Given the description of an element on the screen output the (x, y) to click on. 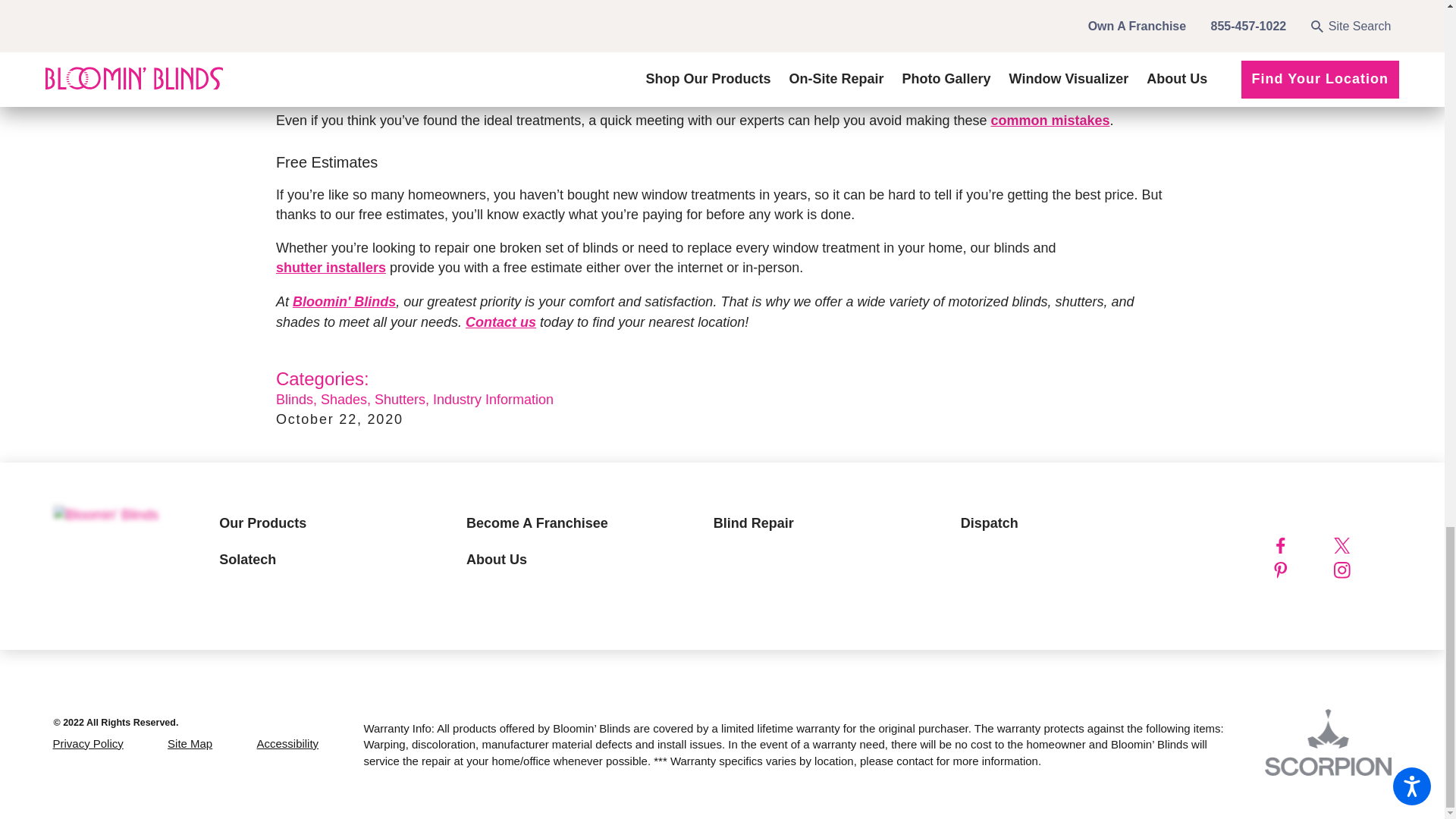
Bloomin' Blinds (105, 515)
Instagram (1360, 569)
Internet Marketing Experts (1328, 742)
LinkedIn (1329, 594)
Facebook (1298, 545)
Twitter (1360, 545)
Pinterest (1298, 569)
